Given the description of an element on the screen output the (x, y) to click on. 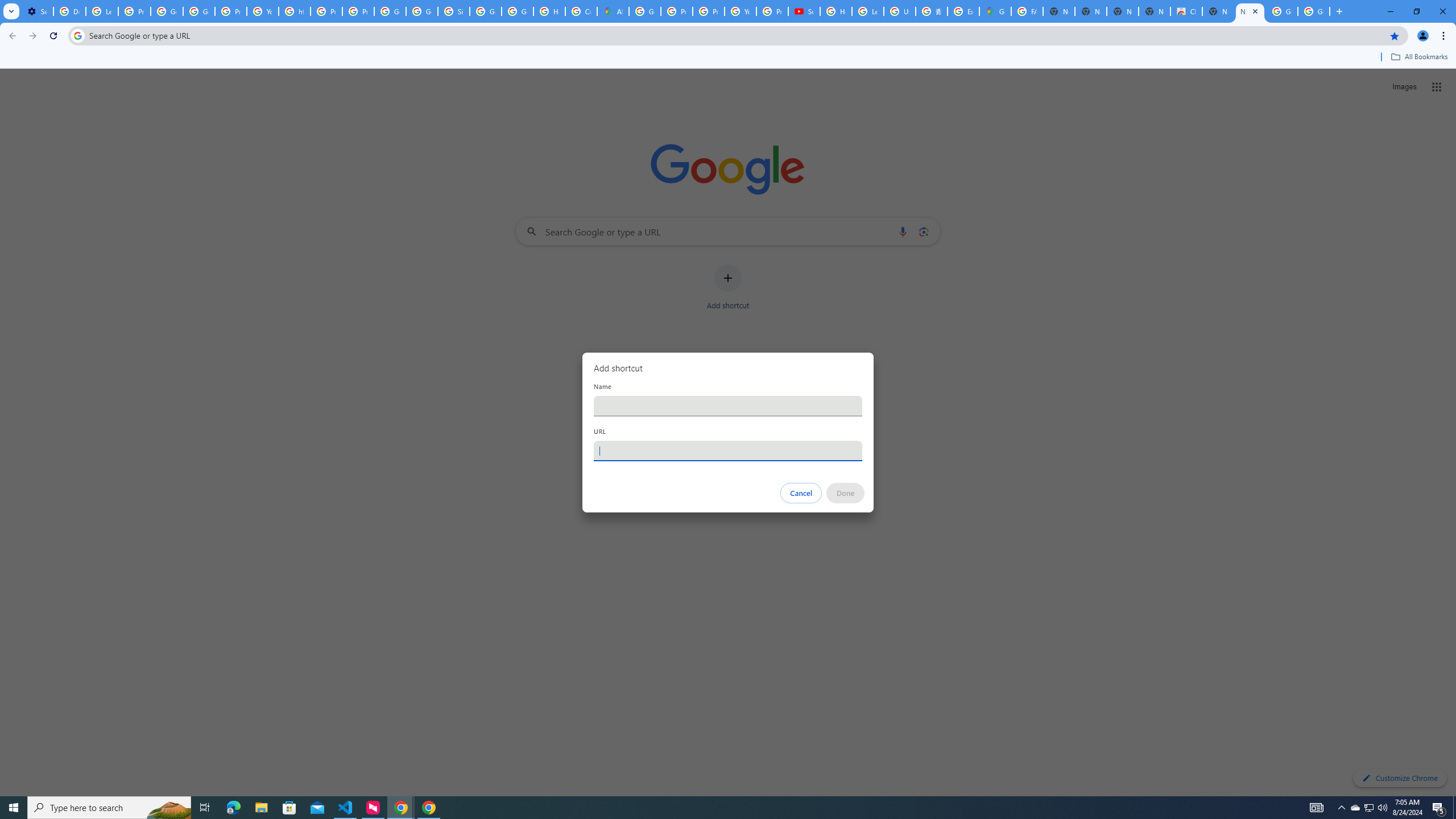
Done (845, 493)
How Chrome protects your passwords - Google Chrome Help (836, 11)
Sign in - Google Accounts (453, 11)
Google Account Help (198, 11)
Chrome Web Store (1185, 11)
Google Images (1313, 11)
